Given the description of an element on the screen output the (x, y) to click on. 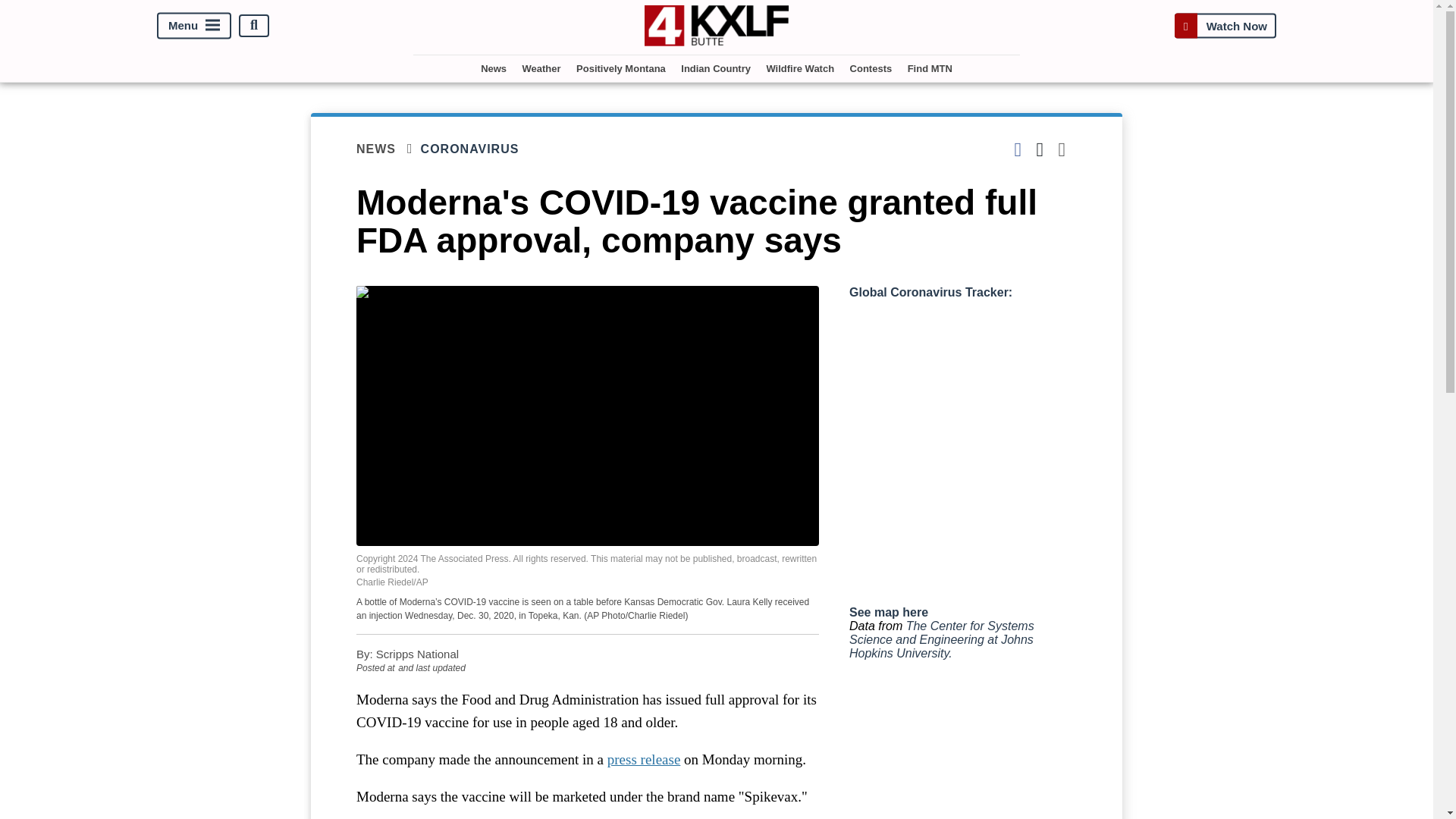
Watch Now (1224, 24)
Menu (194, 25)
